Given the description of an element on the screen output the (x, y) to click on. 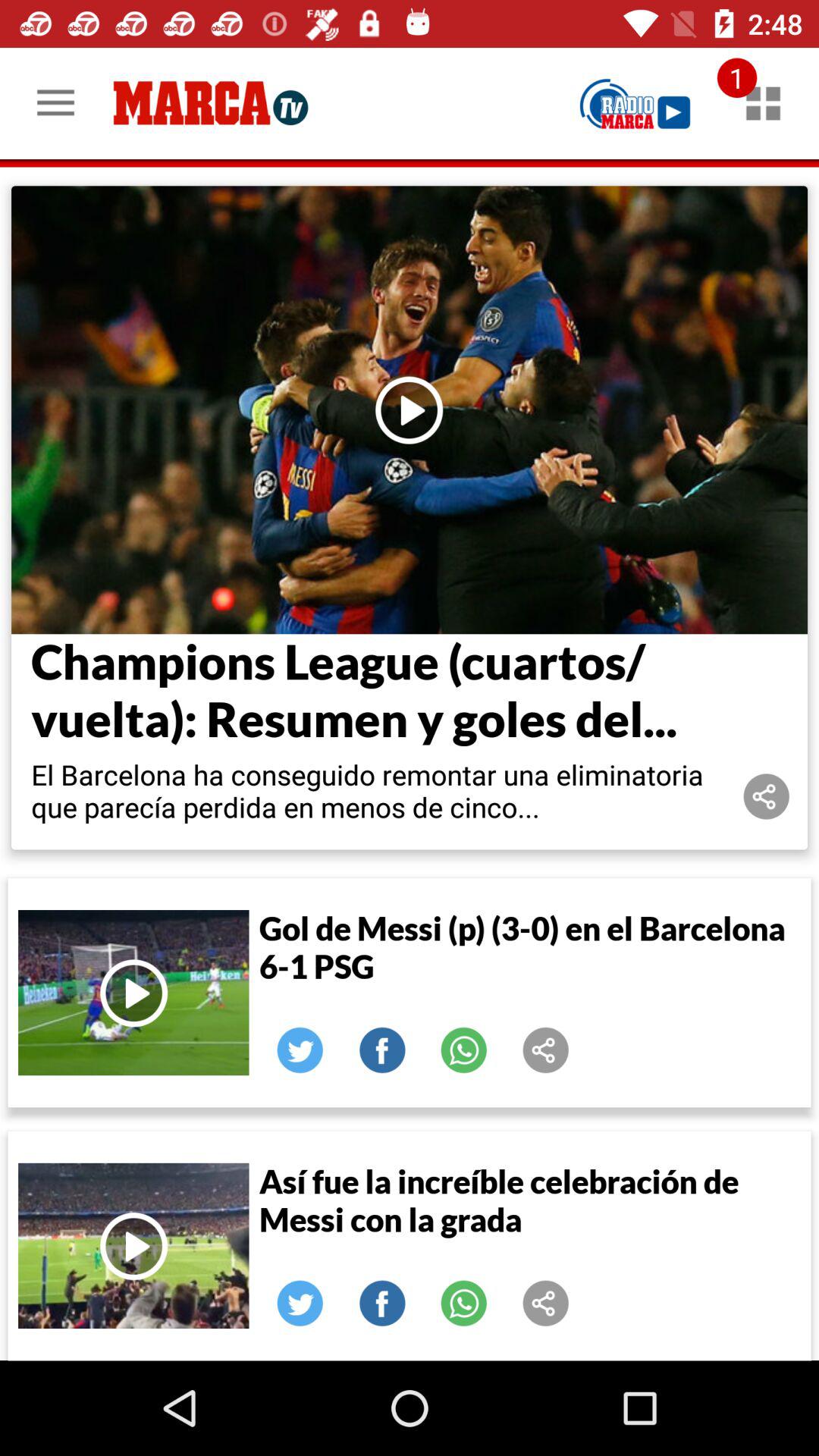
share video on twitter (300, 1050)
